Given the description of an element on the screen output the (x, y) to click on. 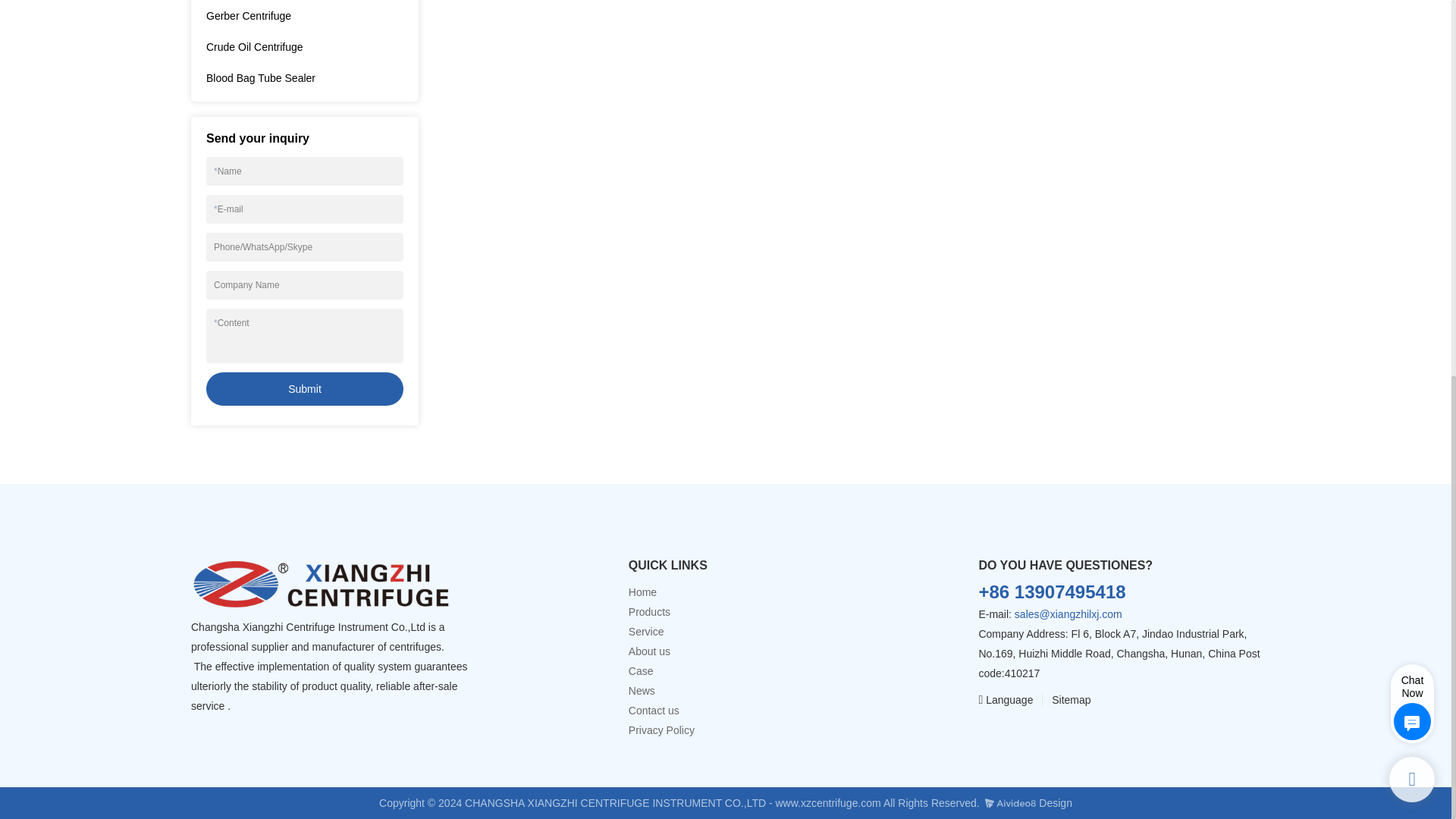
linkedin (1057, 731)
youtube (1023, 731)
facebook (989, 731)
